Given the description of an element on the screen output the (x, y) to click on. 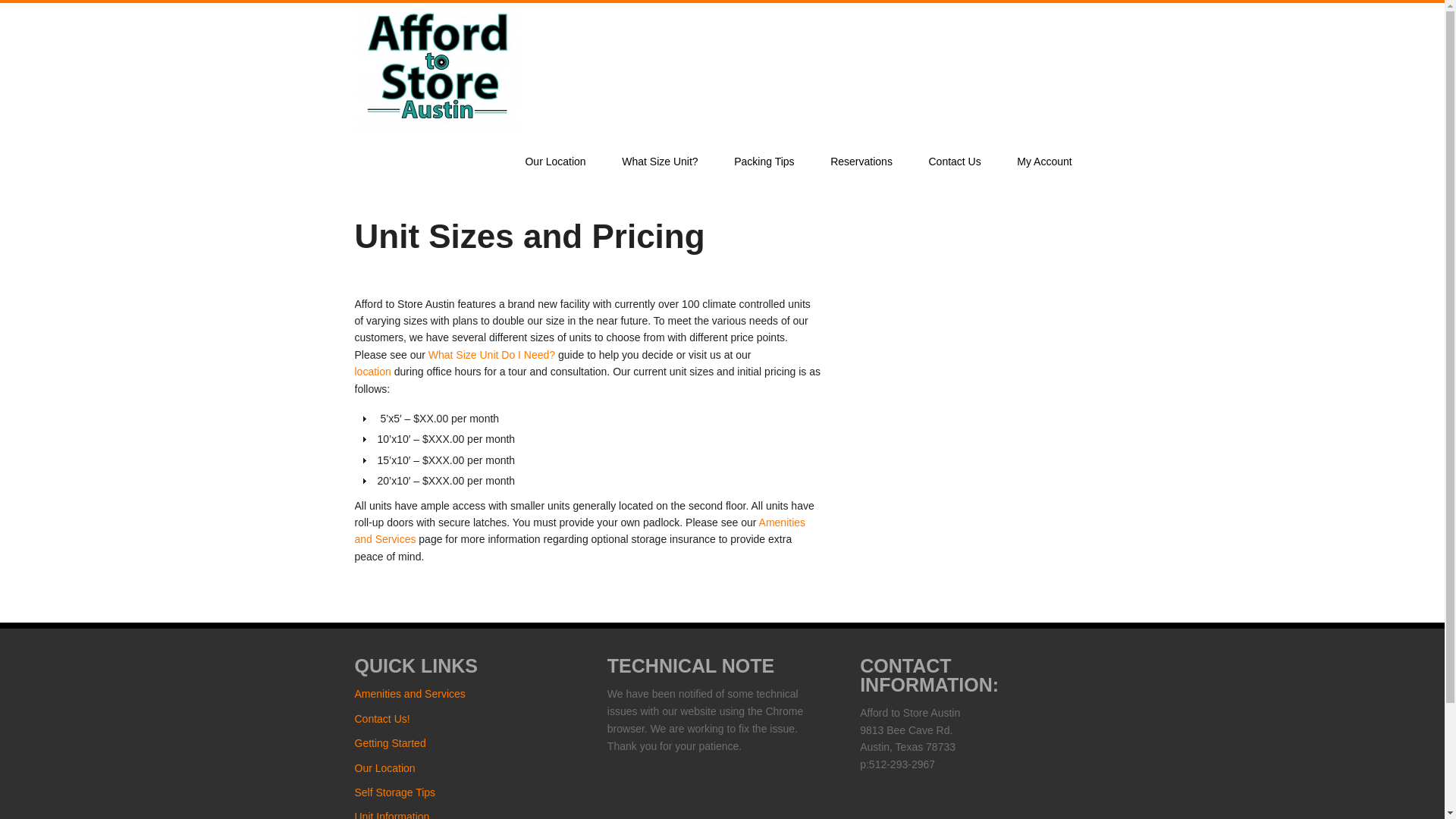
Amenities and Services (410, 693)
Our Location (384, 767)
Reservations (861, 161)
What Size Unit Do I Need? (491, 354)
location (373, 371)
Contact Us (954, 161)
Getting Started (390, 743)
Contact Us! (382, 718)
Unit Information (392, 814)
Our Location (373, 371)
